Given the description of an element on the screen output the (x, y) to click on. 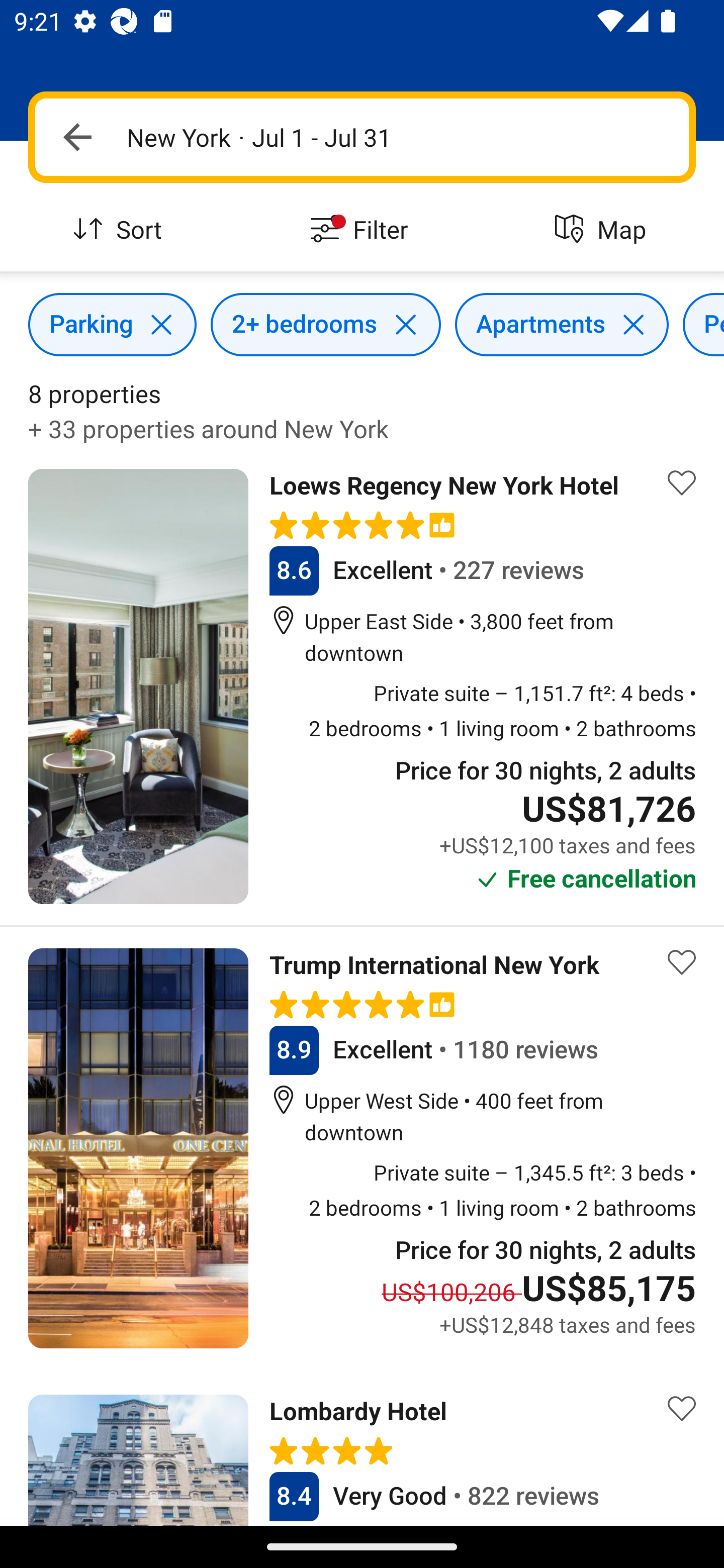
Navigate up New York · Jul 1 - Jul 31 (362, 136)
Navigate up (77, 136)
Sort (120, 230)
Filter (361, 230)
Map (603, 230)
Save property to list (681, 482)
Save property to list (681, 962)
Save property to list (681, 1407)
